Given the description of an element on the screen output the (x, y) to click on. 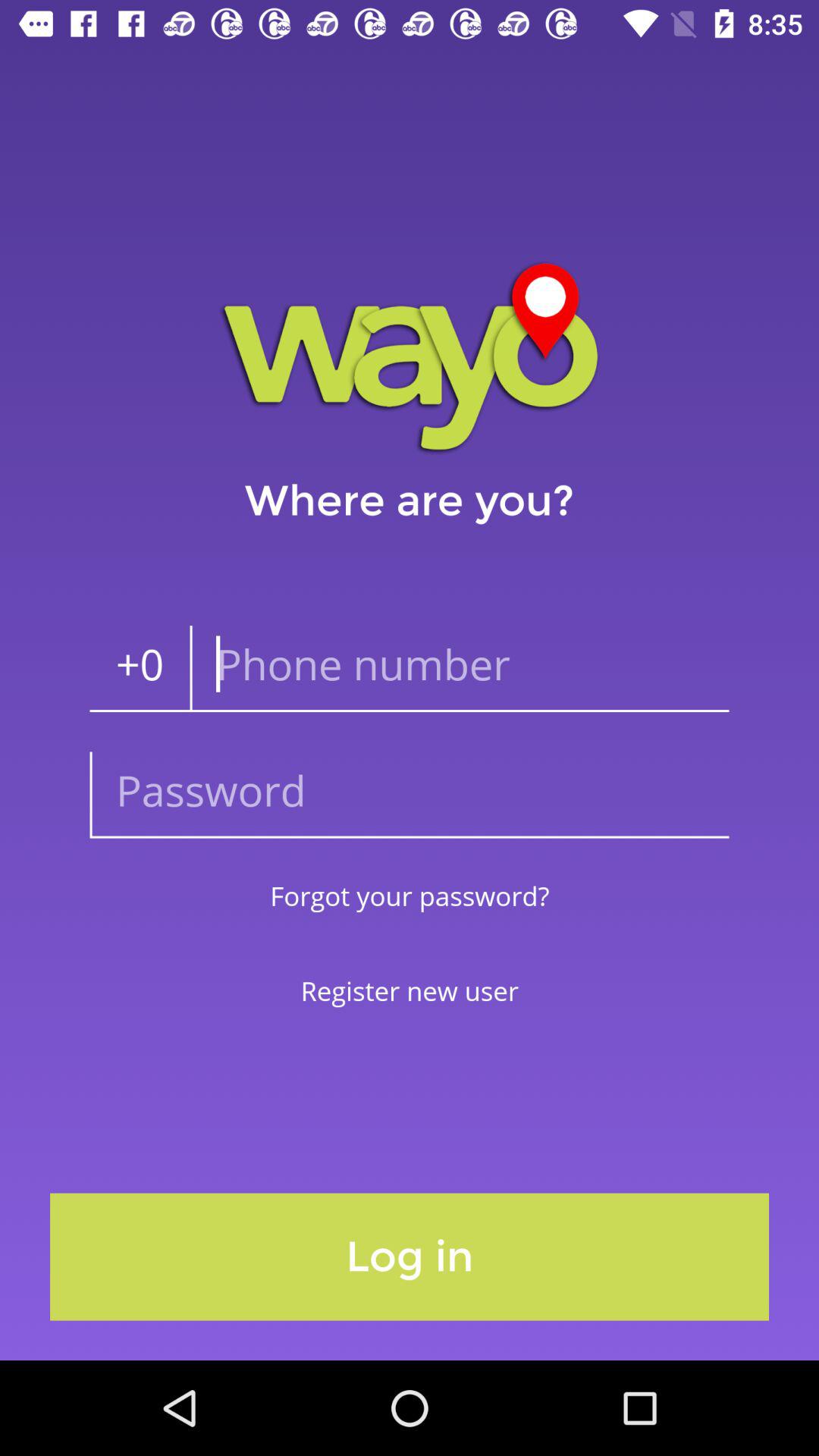
press item above forgot your password? (409, 794)
